Given the description of an element on the screen output the (x, y) to click on. 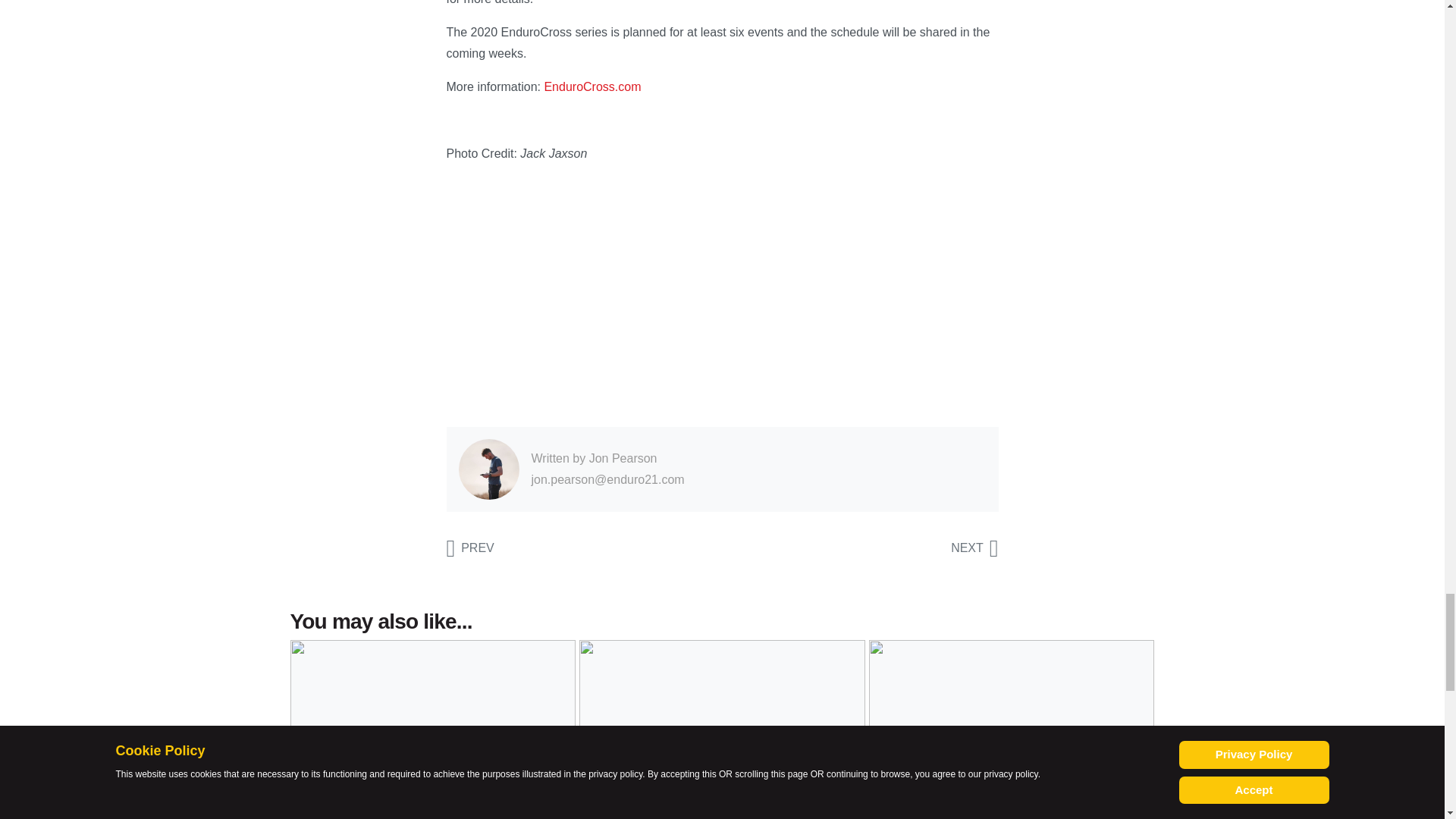
3rd party ad content (721, 295)
